Given the description of an element on the screen output the (x, y) to click on. 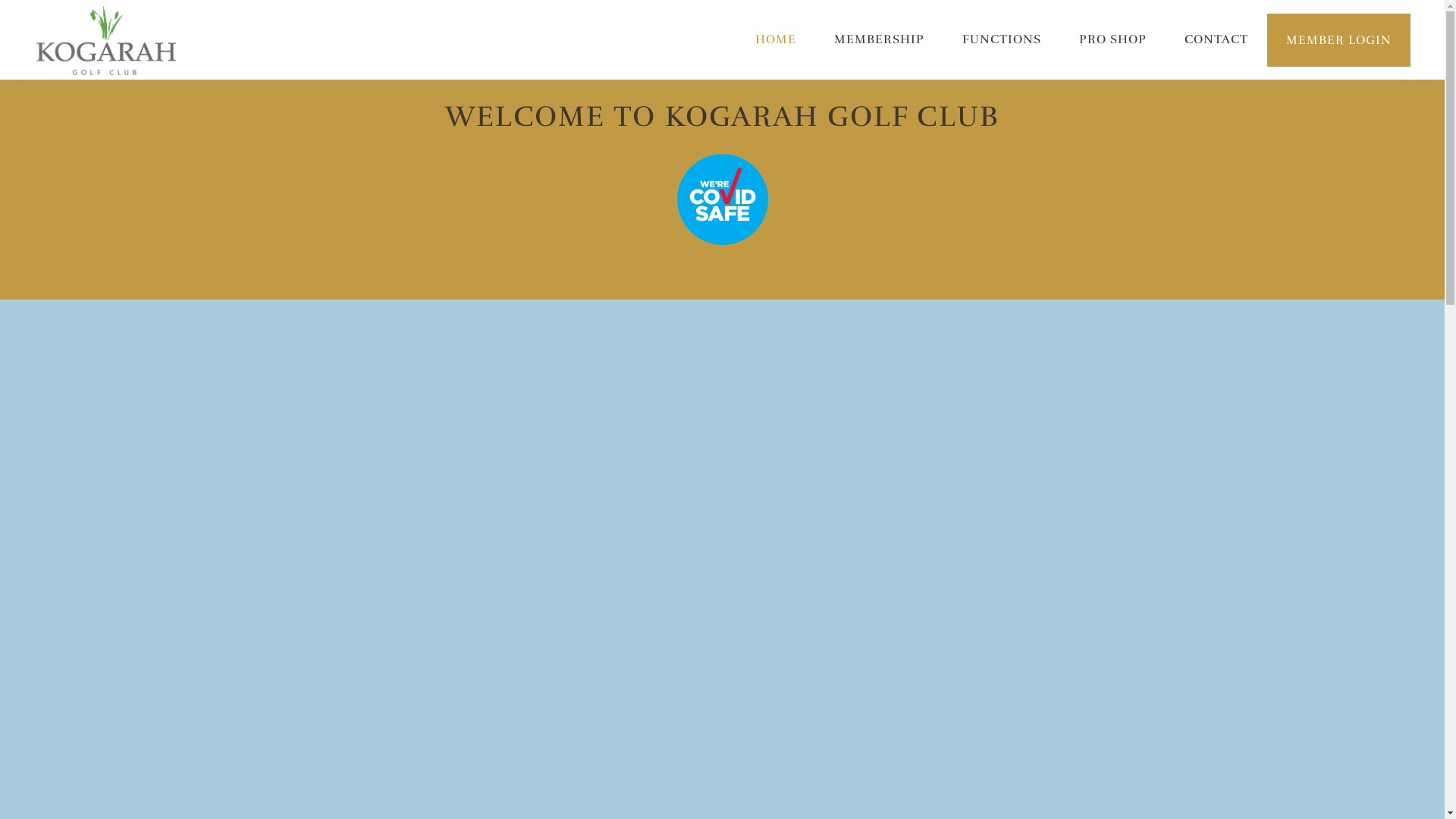
FUNCTIONS Element type: text (1001, 39)
CONTACT Element type: text (1216, 39)
CONTACT Element type: text (603, 654)
HOME Element type: text (775, 39)
(02) 9567 0334 Element type: text (1031, 594)
MEMBERS Element type: text (603, 628)
HOME Element type: text (603, 576)
MEMBERSHIP Element type: text (879, 39)
Southern Design. Element type: text (740, 778)
admin@kogarahgolfclub.com.au Element type: text (1087, 620)
PRO SHOP Element type: text (1112, 39)
MEMBERSHIP Element type: text (603, 602)
MEMBER LOGIN Element type: text (1338, 39)
